Given the description of an element on the screen output the (x, y) to click on. 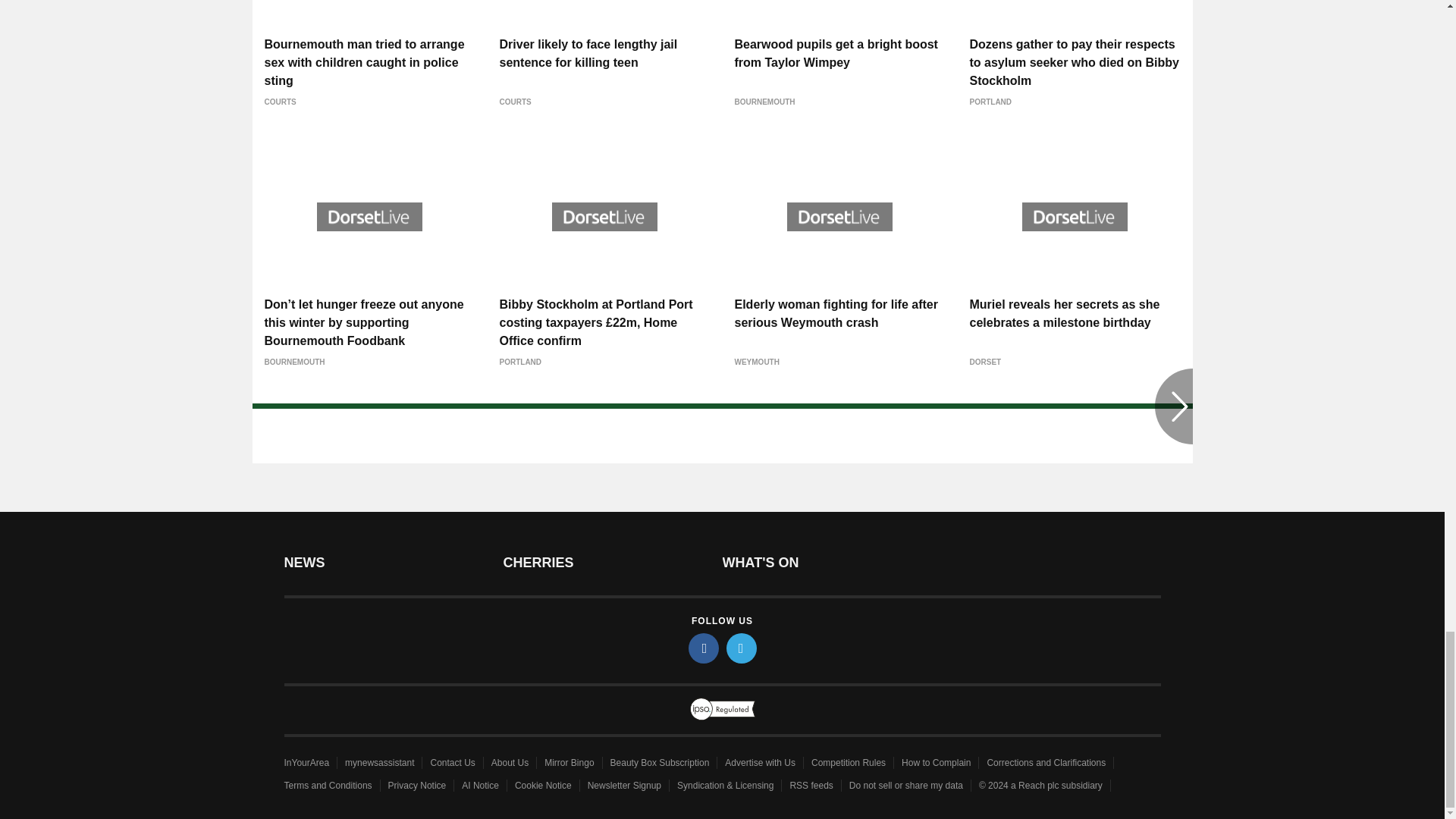
twitter (741, 648)
facebook (703, 648)
